Given the description of an element on the screen output the (x, y) to click on. 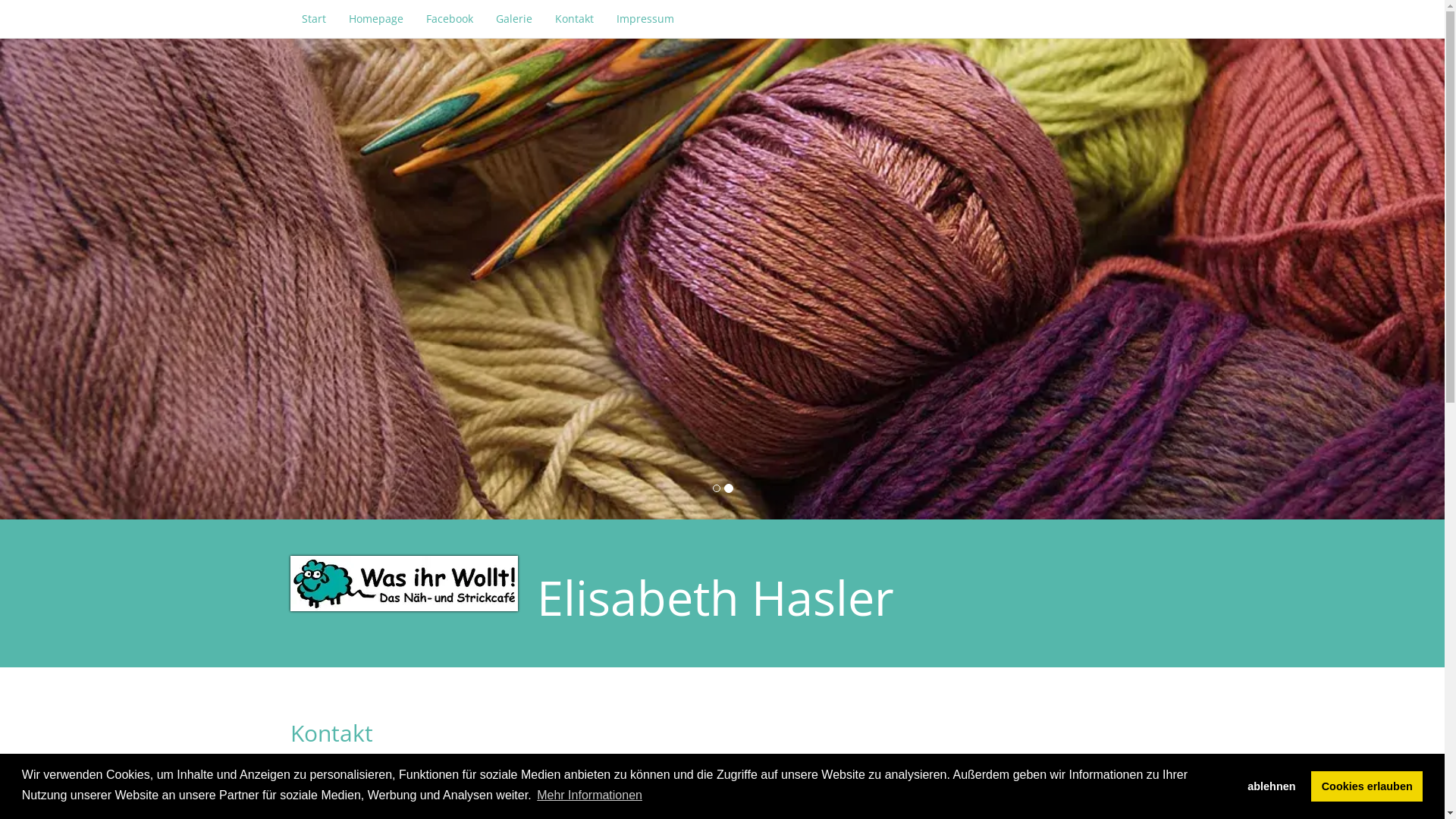
Galerie Element type: text (512, 18)
Mehr Informationen Element type: text (589, 795)
ablehnen Element type: text (1271, 786)
Kontakt Element type: text (573, 18)
Facebook Element type: text (448, 18)
Homepage Element type: text (375, 18)
Cookies erlauben Element type: text (1366, 786)
Start Element type: text (312, 18)
Impressum Element type: text (645, 18)
